Given the description of an element on the screen output the (x, y) to click on. 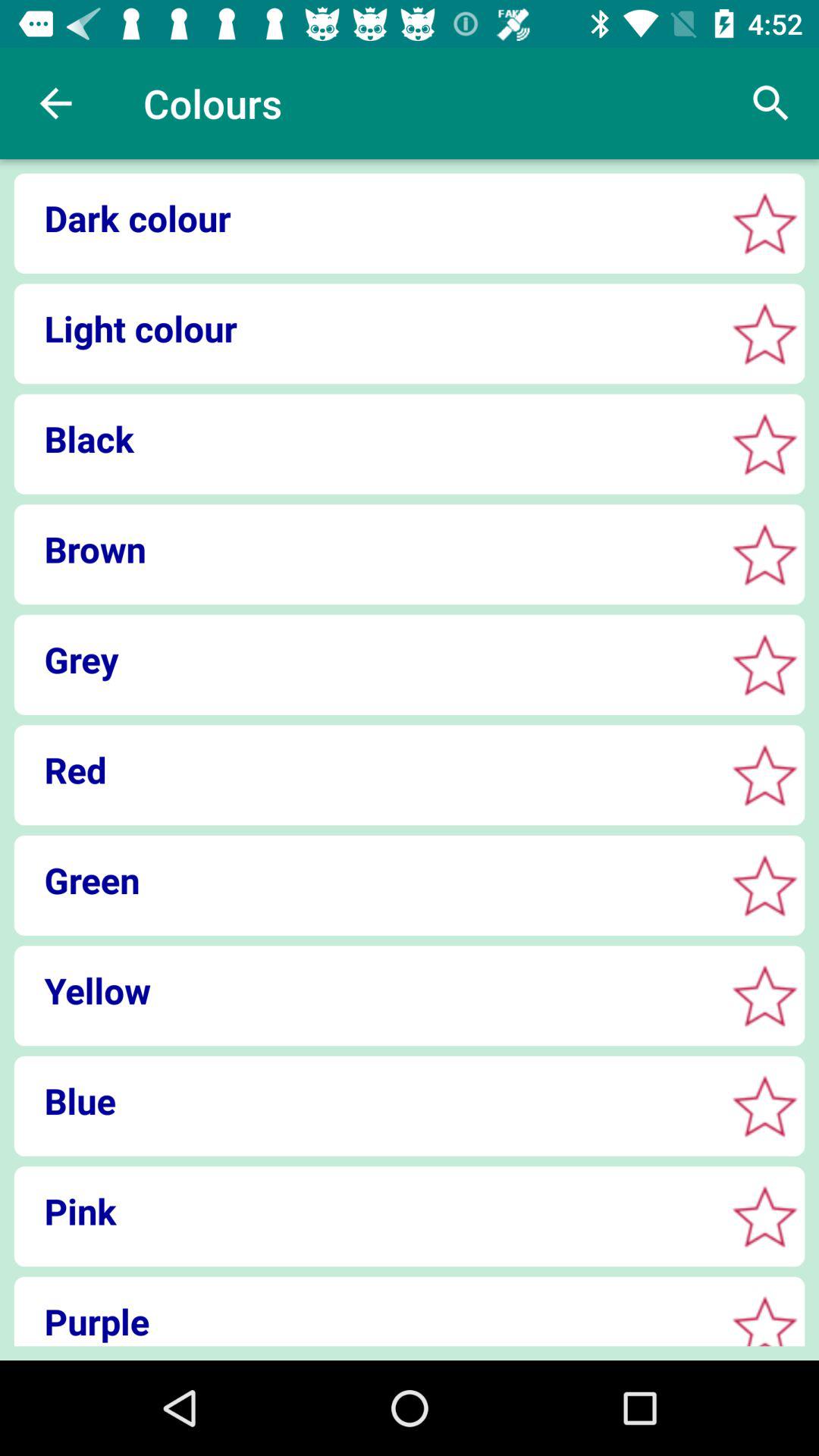
click to like light colour (764, 333)
